Given the description of an element on the screen output the (x, y) to click on. 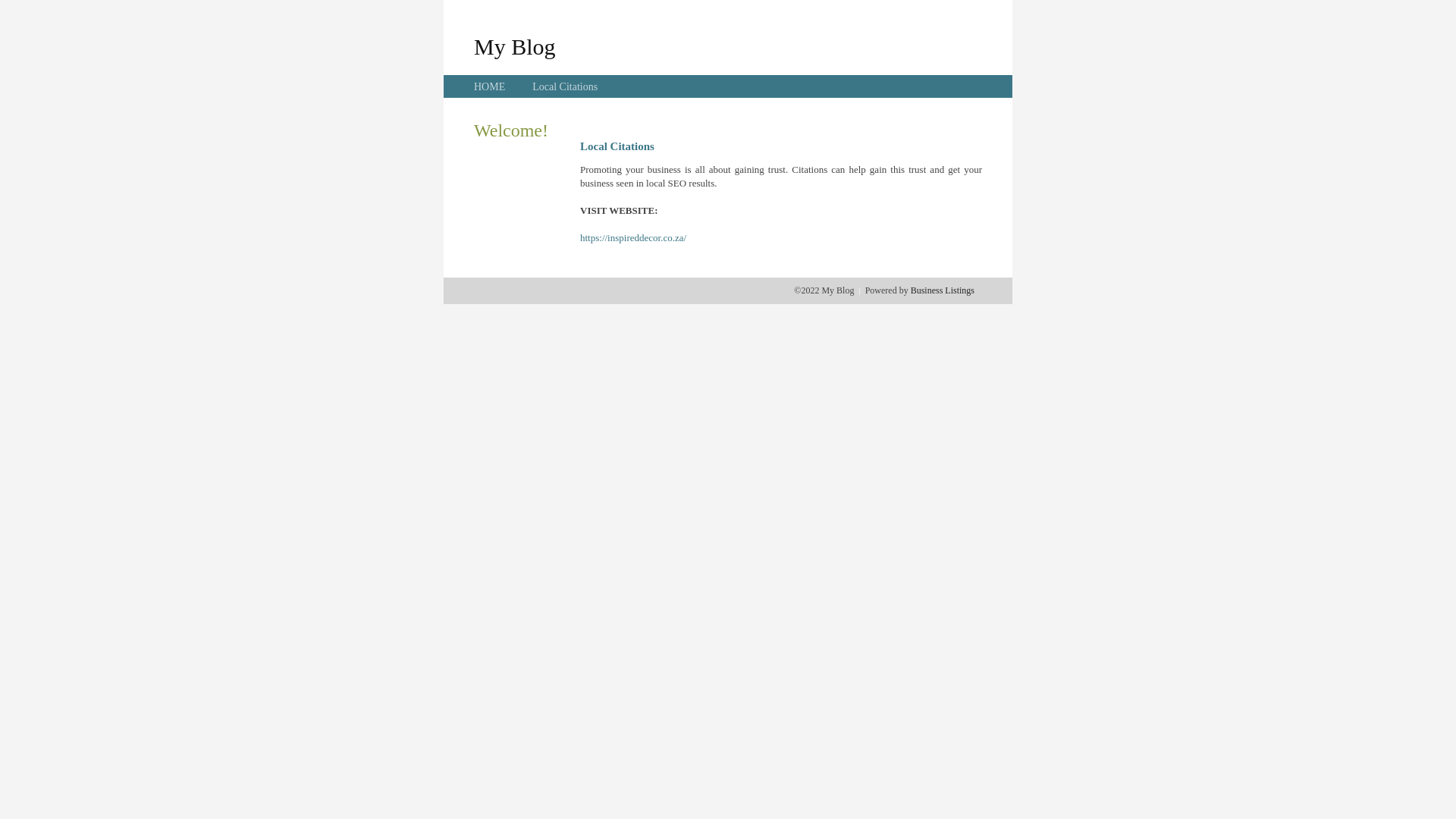
My Blog Element type: text (514, 46)
Local Citations Element type: text (564, 86)
Business Listings Element type: text (942, 290)
HOME Element type: text (489, 86)
https://inspireddecor.co.za/ Element type: text (633, 237)
